Given the description of an element on the screen output the (x, y) to click on. 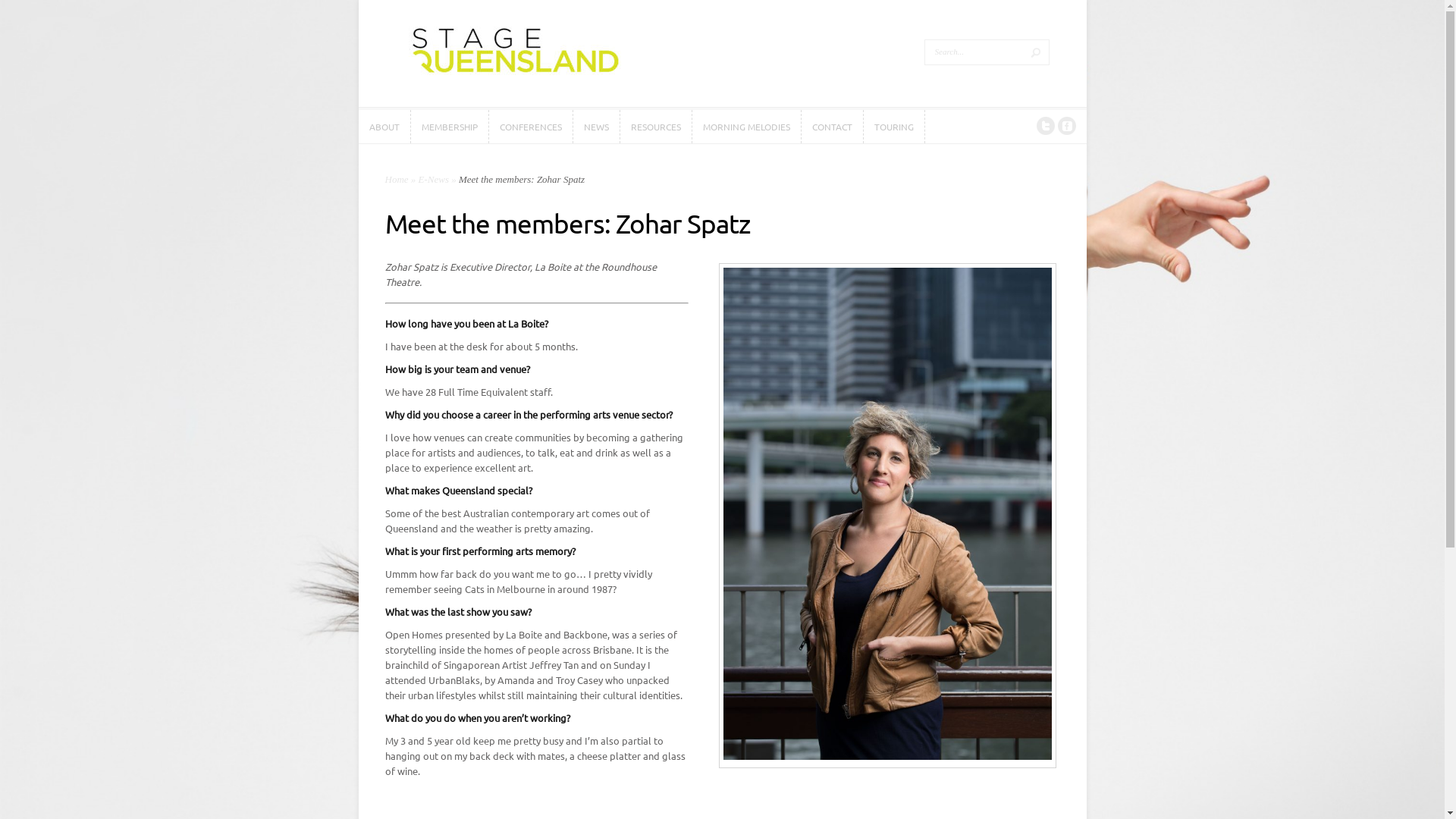
MEMBERSHIP Element type: text (449, 126)
MORNING MELODIES Element type: text (745, 126)
RESOURCES Element type: text (655, 126)
NEWS Element type: text (596, 126)
ABOUT Element type: text (383, 126)
CONTACT Element type: text (831, 126)
E-News Element type: text (433, 179)
Home Element type: text (396, 179)
CONFERENCES Element type: text (529, 126)
TOURING Element type: text (892, 126)
